Given the description of an element on the screen output the (x, y) to click on. 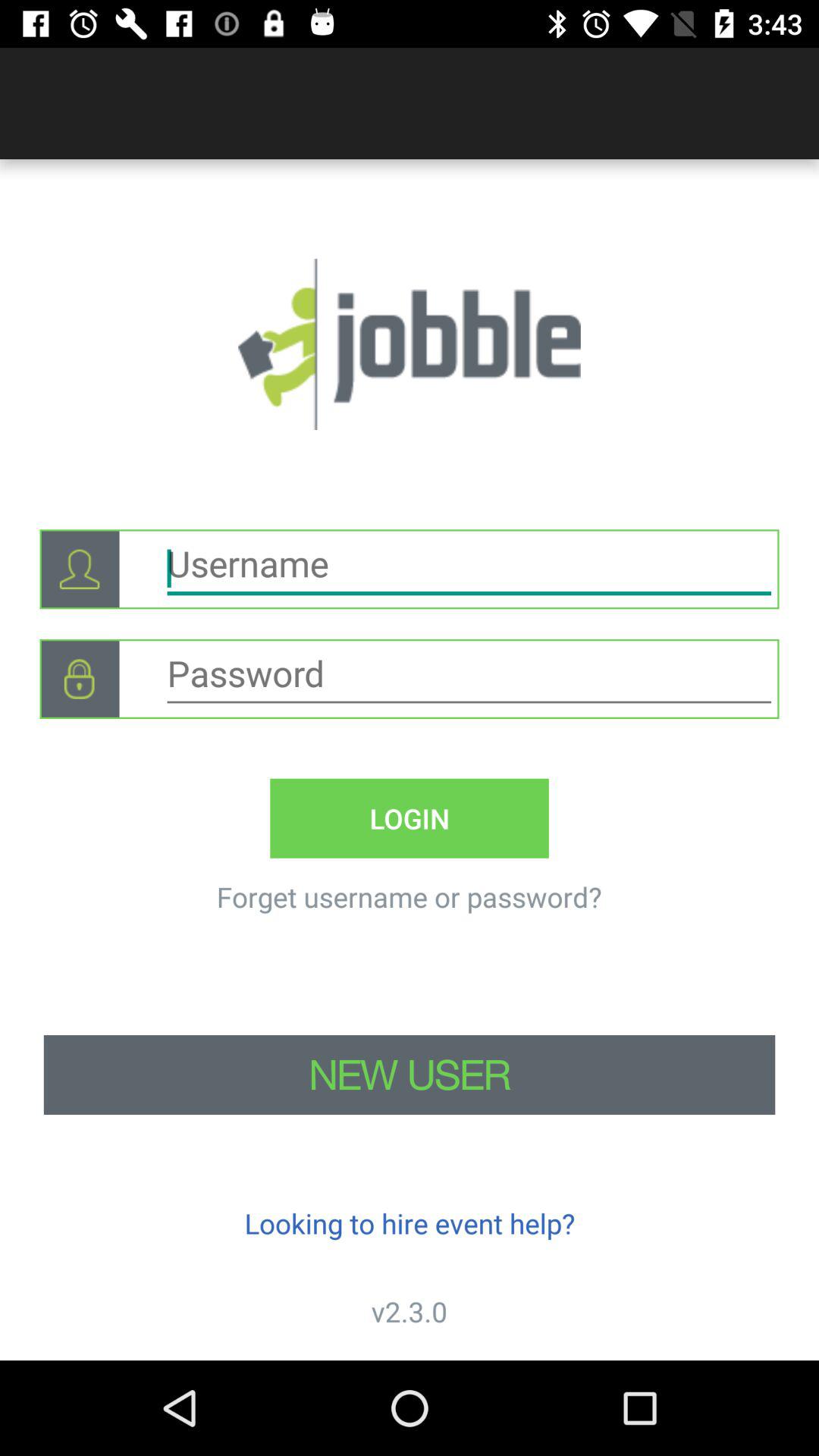
turn off v2.3.0 (409, 1311)
